Given the description of an element on the screen output the (x, y) to click on. 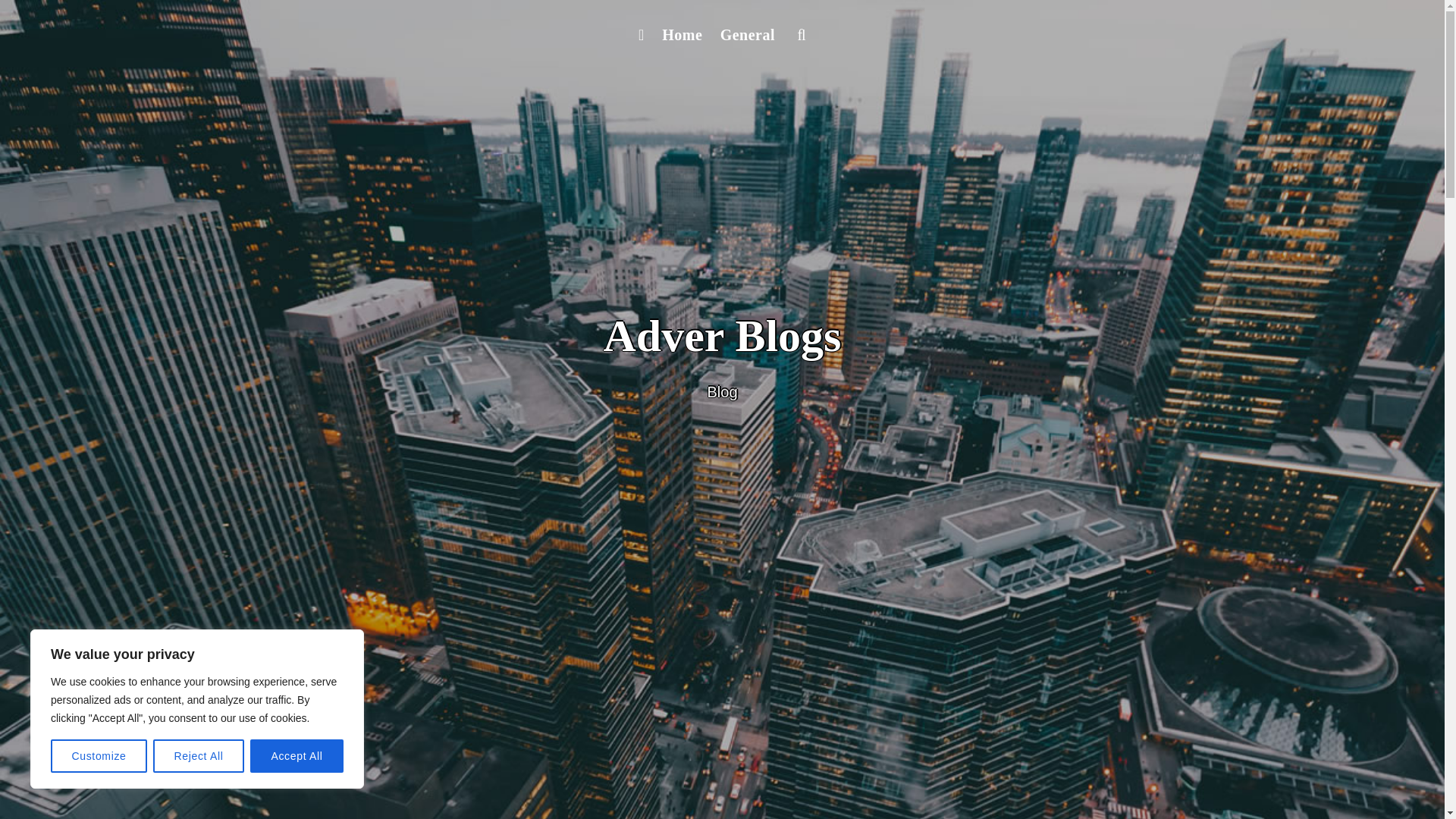
Reject All (198, 756)
General (747, 35)
Home (681, 35)
Accept All (296, 756)
Adver Blogs (722, 336)
Customize (98, 756)
